Given the description of an element on the screen output the (x, y) to click on. 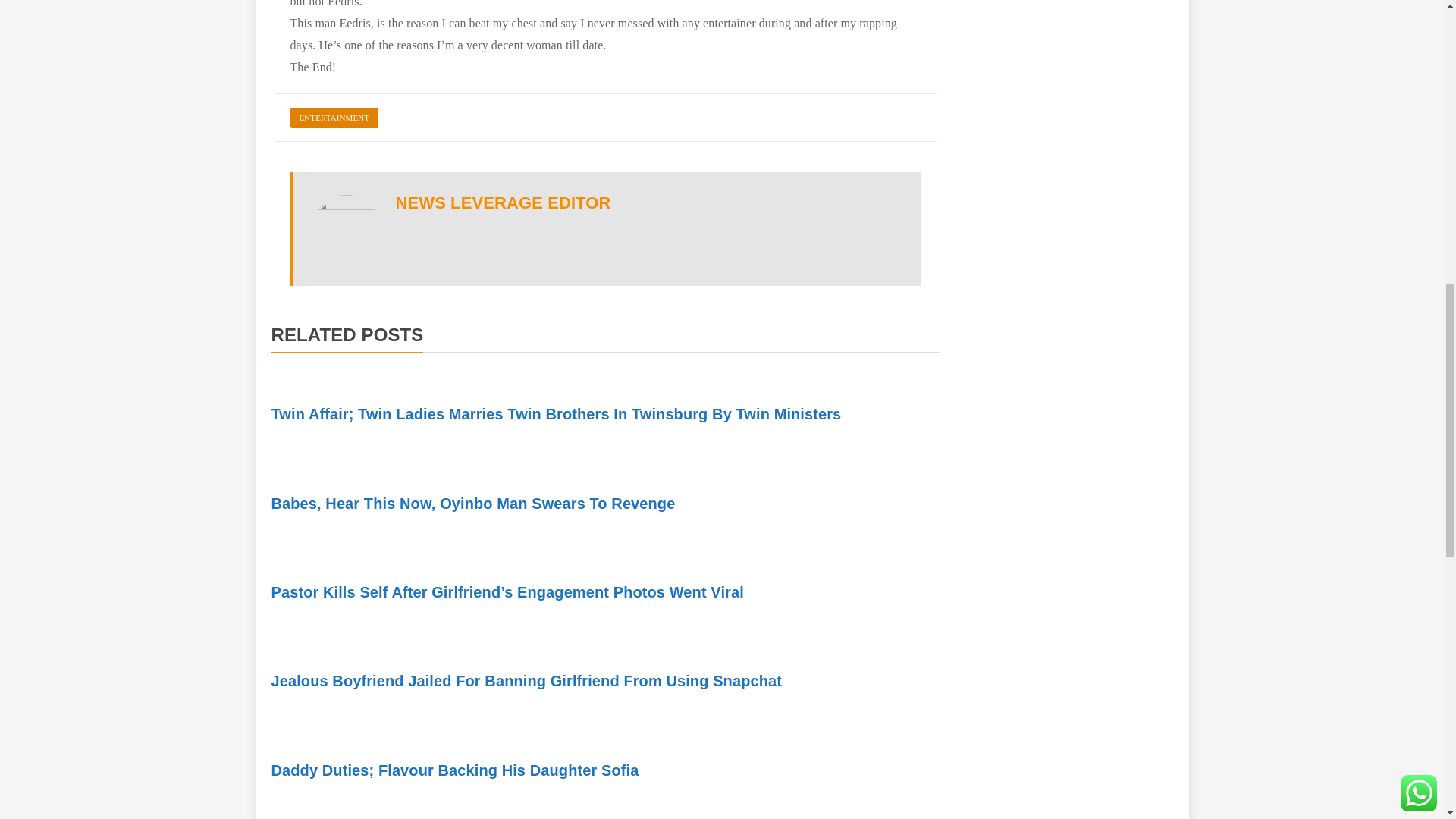
ENTERTAINMENT (333, 117)
NEWS LEVERAGE EDITOR (503, 202)
